Given the description of an element on the screen output the (x, y) to click on. 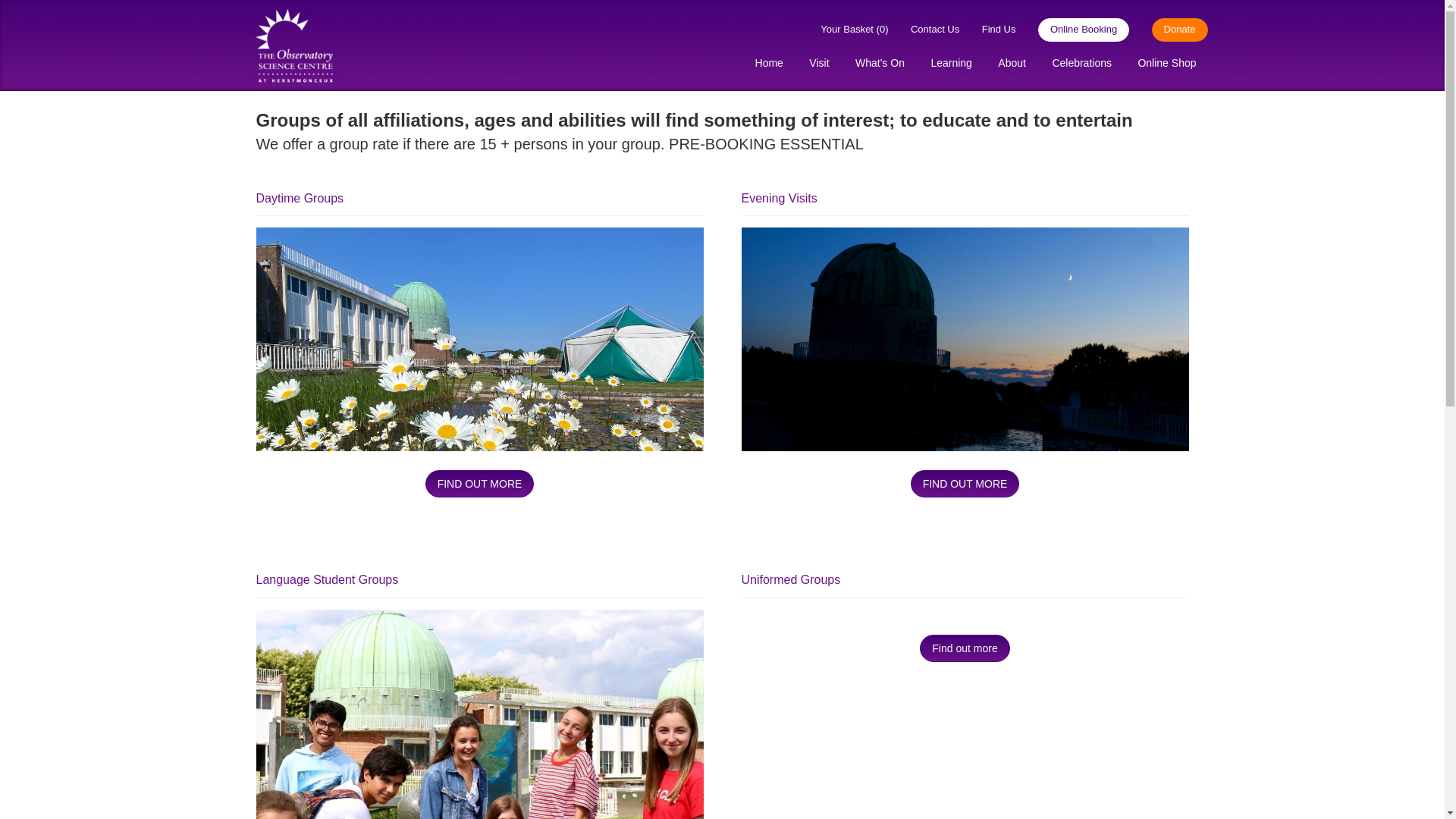
FIND OUT MORE (965, 483)
What's On (879, 64)
Online Booking (1074, 29)
Uniformed Groups (964, 647)
Make a Donation (1170, 29)
Contact Us (925, 29)
Visit Us (989, 29)
FIND OUT MORE (479, 483)
Find Us (989, 29)
Learning (951, 64)
Home (769, 64)
About (1011, 64)
Online Booking (1074, 29)
Donate (1170, 29)
Visit (818, 64)
